Given the description of an element on the screen output the (x, y) to click on. 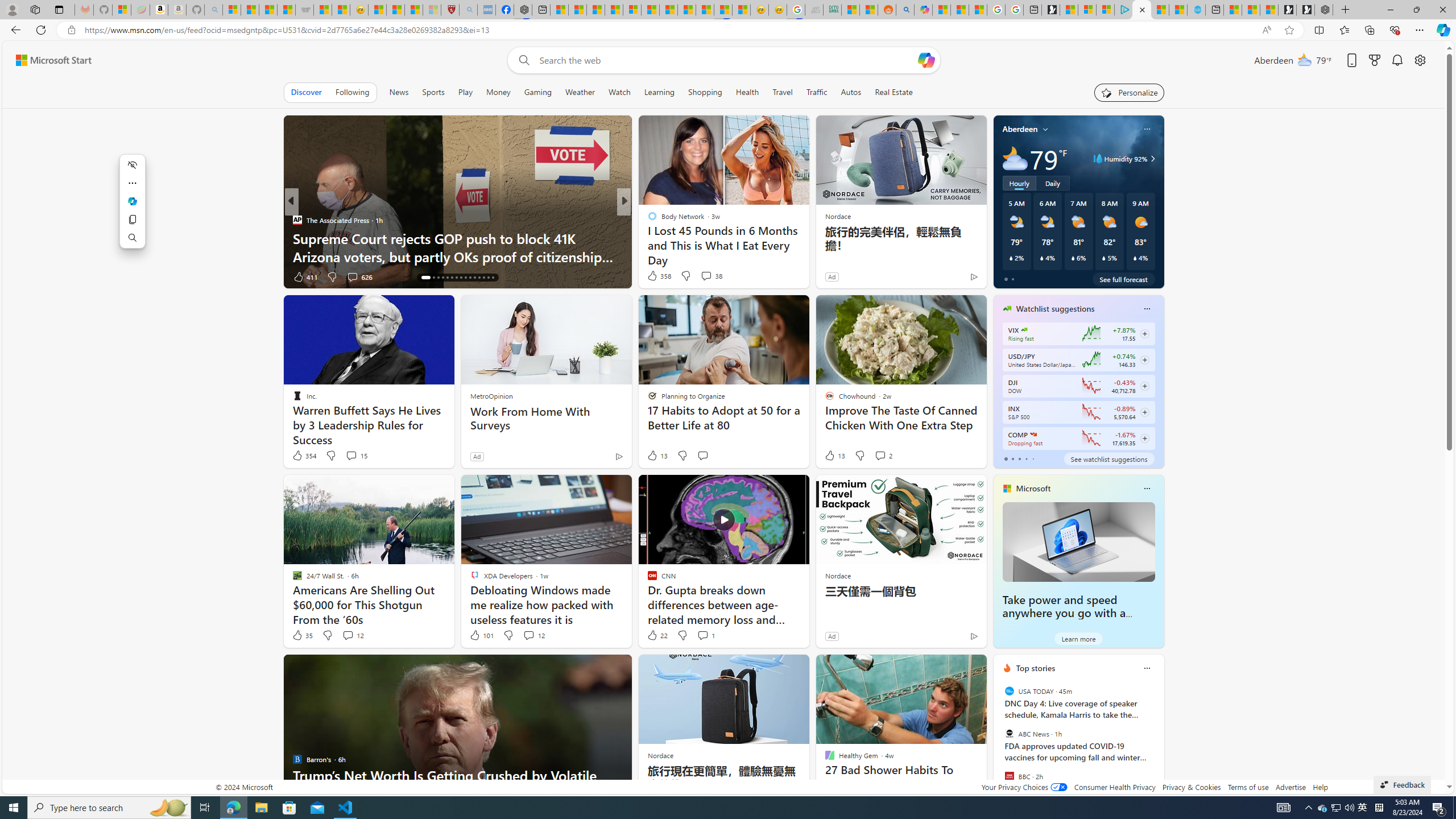
33 Like (652, 276)
tab-4 (1032, 458)
Learn more (1078, 638)
101 Like (480, 634)
Ask Copilot (132, 201)
8 proven ways to slow down biological aging (807, 256)
View comments 104 Comment (703, 276)
